Given the description of an element on the screen output the (x, y) to click on. 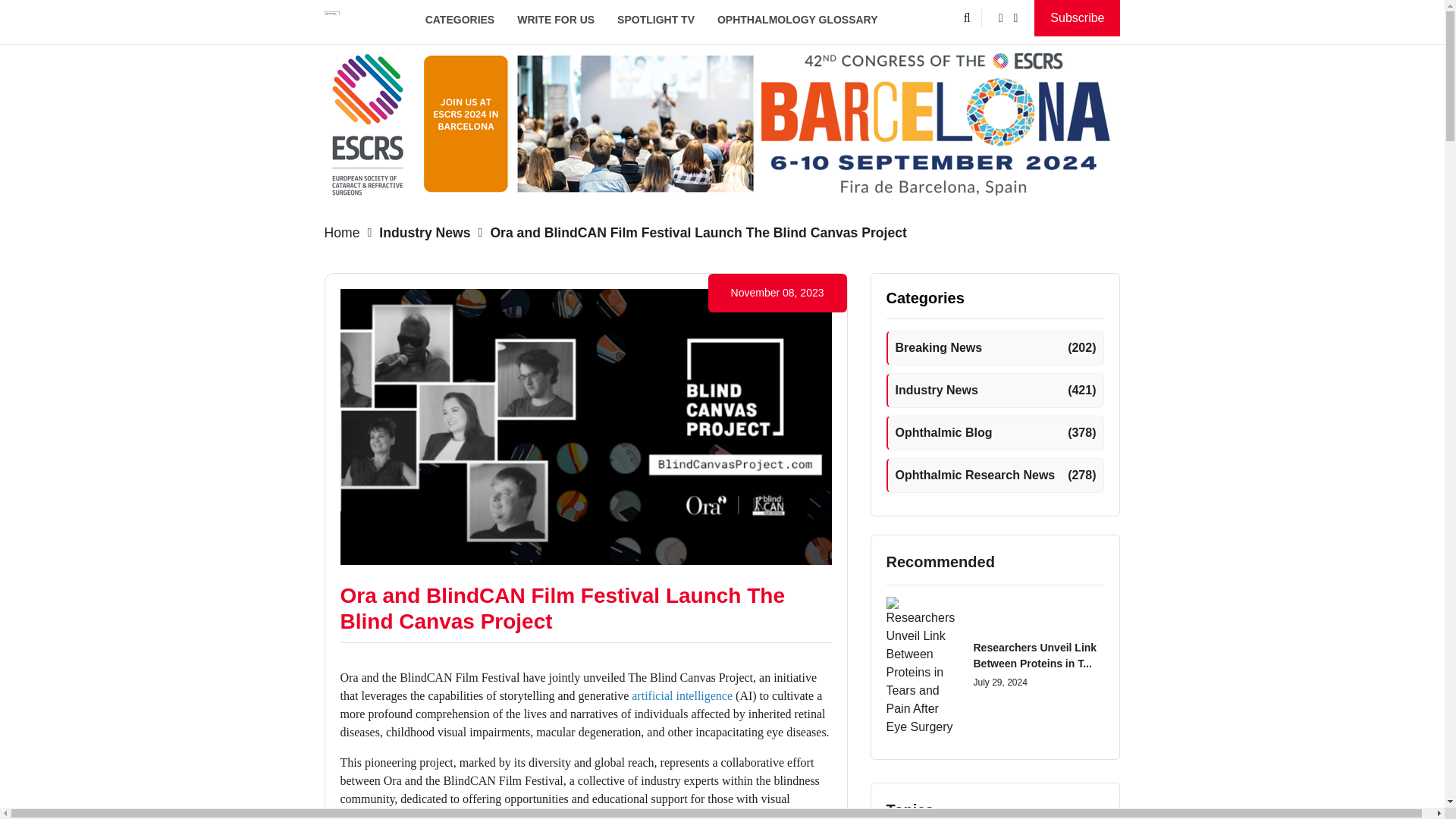
artificial intelligence (681, 695)
SPOTLIGHT TV (655, 20)
Home (346, 232)
Industry News (421, 232)
Subscribe (1076, 18)
OPHTHALMOLOGY GLOSSARY (797, 20)
CATEGORIES (459, 20)
WRITE FOR US (555, 20)
